Given the description of an element on the screen output the (x, y) to click on. 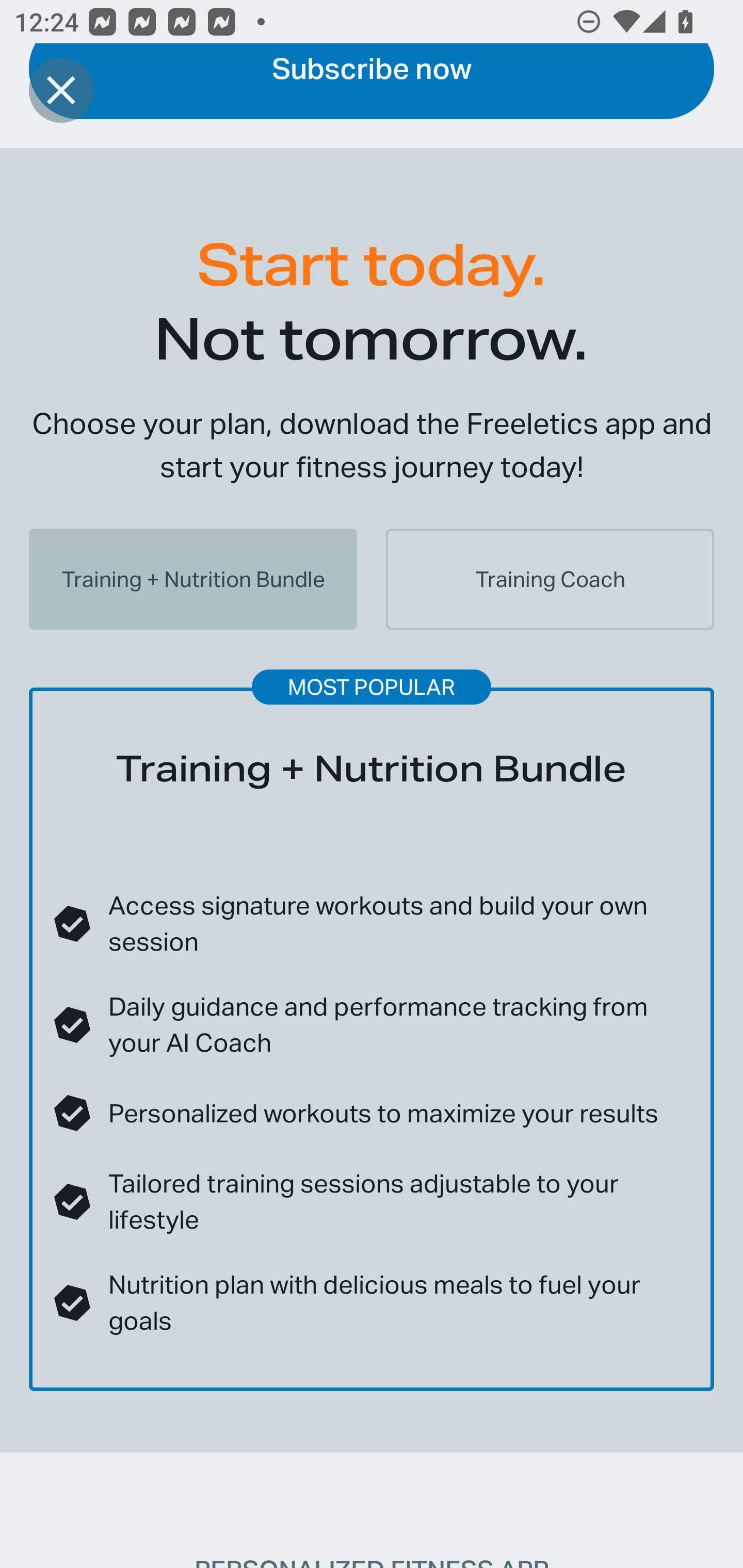
Close (60, 90)
Training + Nutrition Bundle (192, 579)
Training Coach (549, 579)
